Given the description of an element on the screen output the (x, y) to click on. 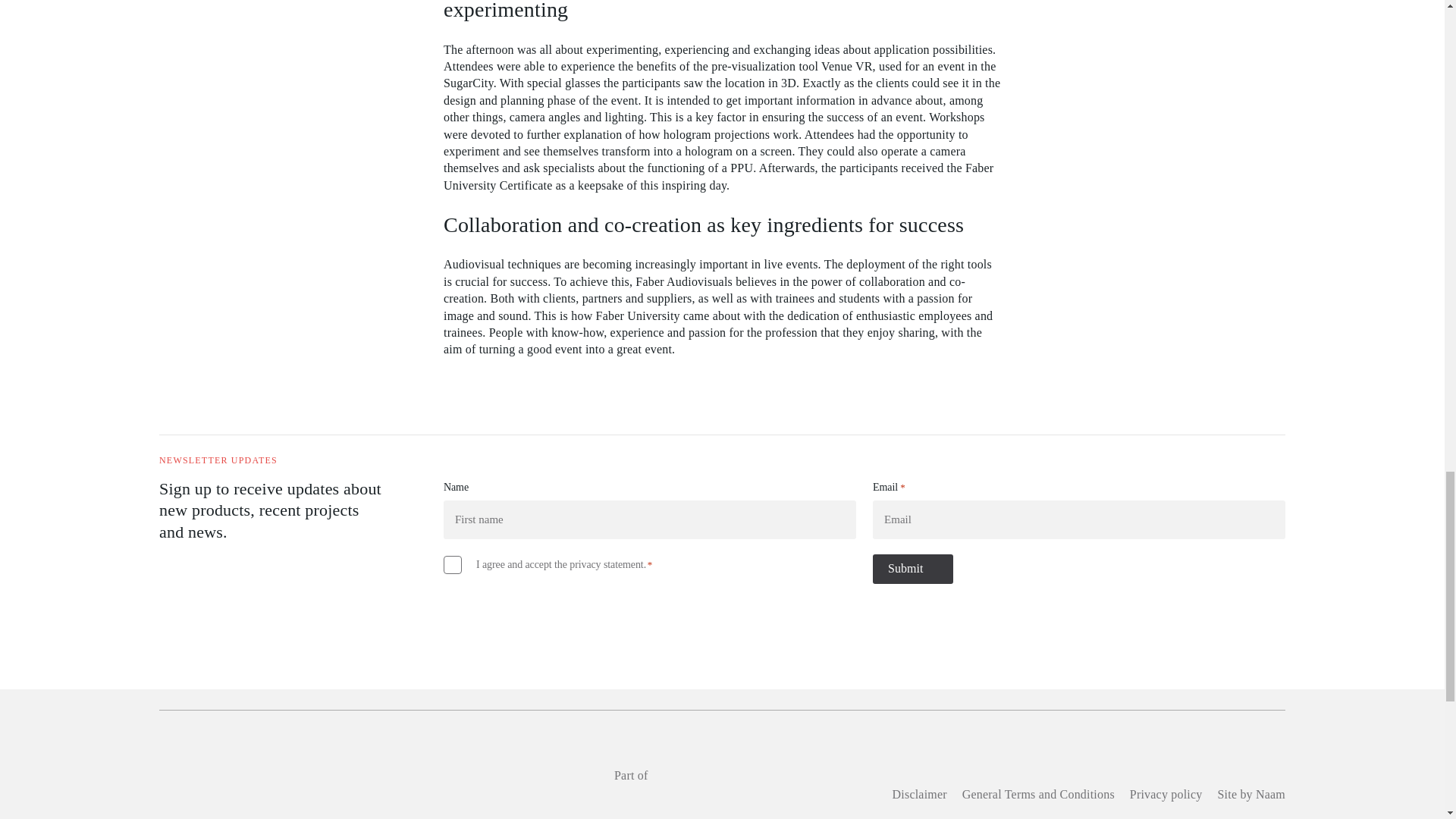
Submit (912, 568)
1 (452, 564)
